Given the description of an element on the screen output the (x, y) to click on. 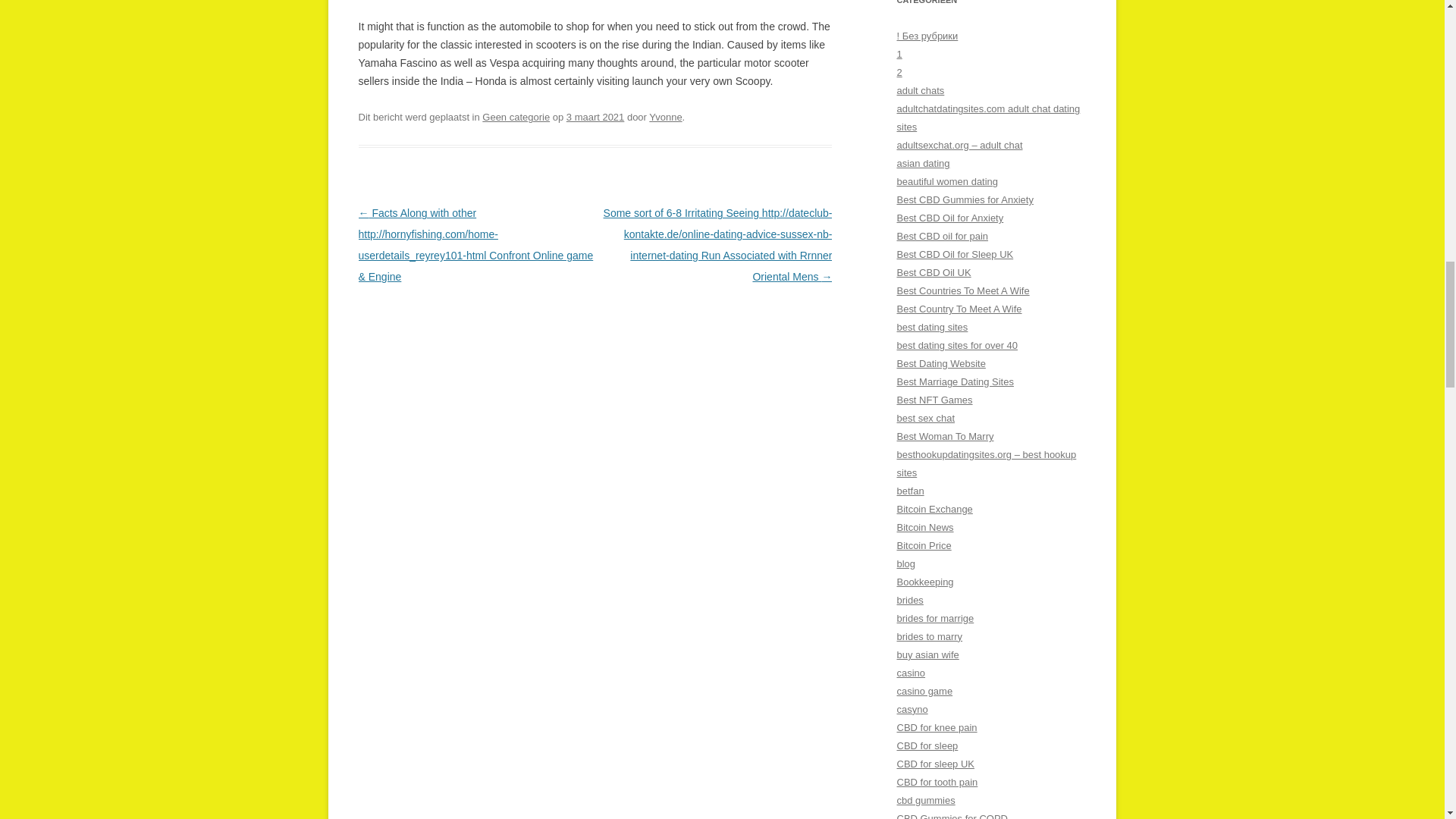
3 maart 2021 (595, 116)
Yvonne (665, 116)
19:18 (595, 116)
Alle berichten tonen van Yvonne (665, 116)
Geen categorie (515, 116)
